Given the description of an element on the screen output the (x, y) to click on. 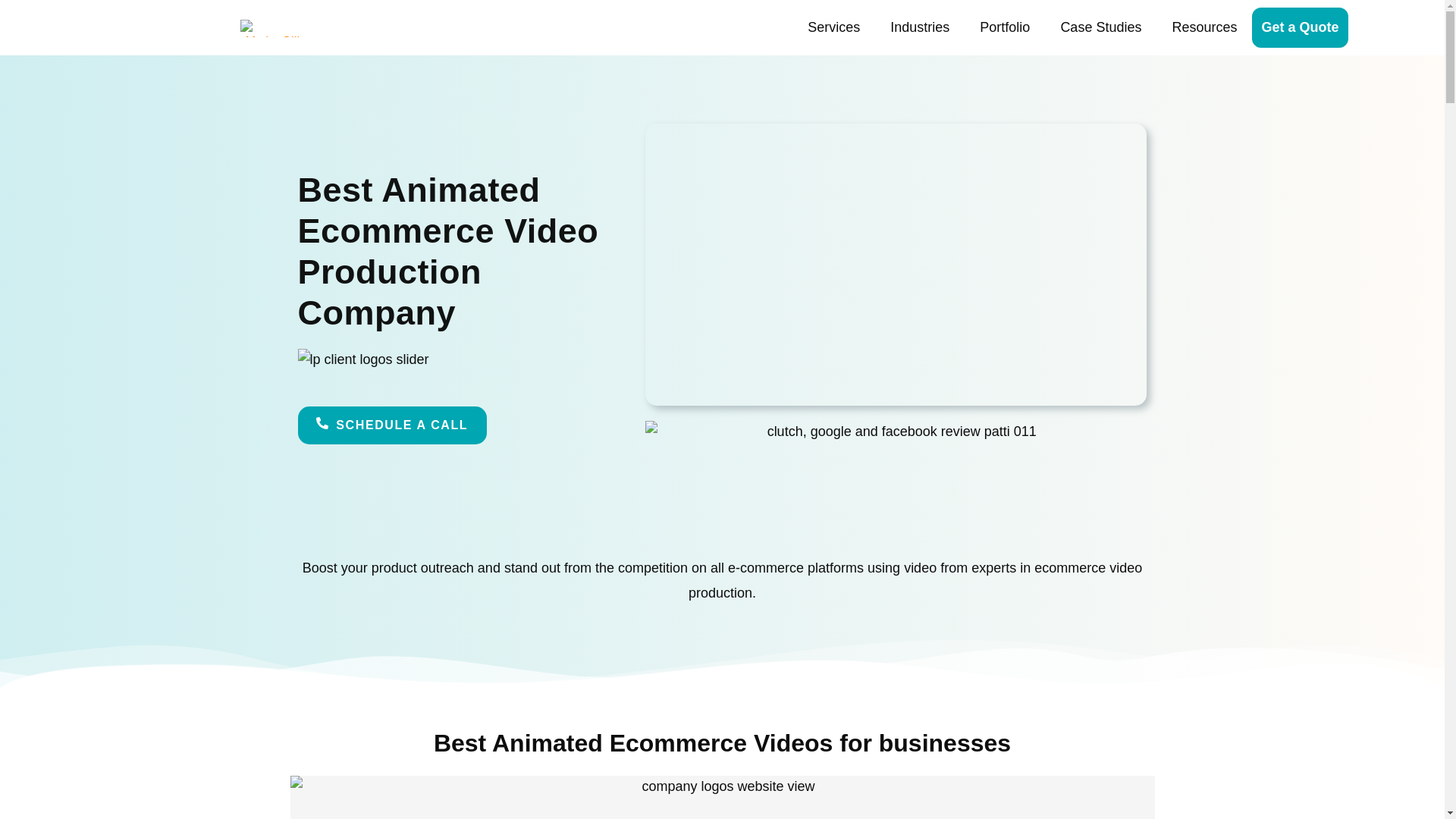
Portfolio (1004, 27)
Industries (919, 27)
Ecommerce Video Production Company (451, 369)
Resources (1204, 27)
Ecommerce Video Production Company (896, 455)
Ecommerce Video Production Company (721, 797)
Services (833, 27)
Case Studies (1100, 27)
